Given the description of an element on the screen output the (x, y) to click on. 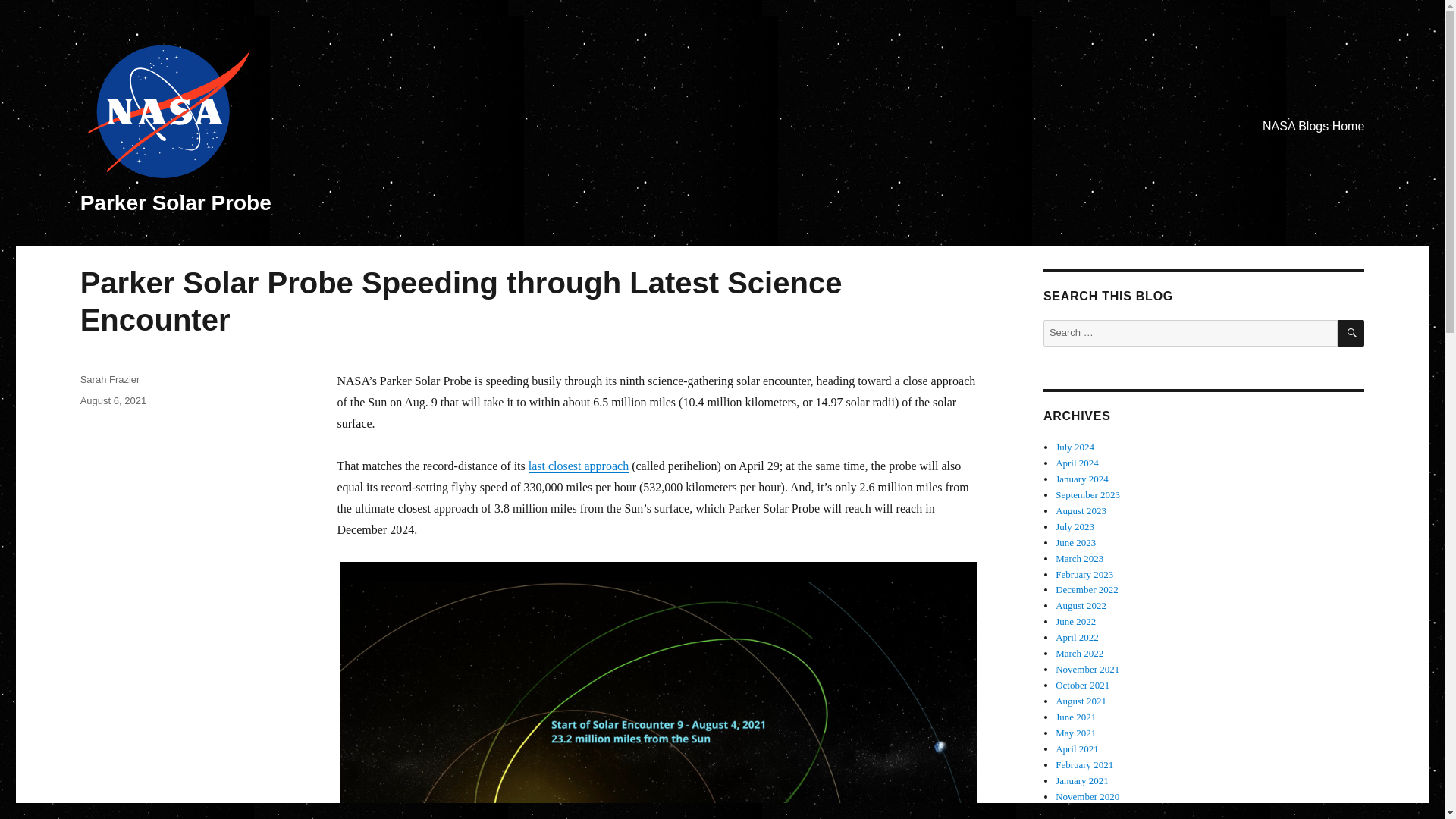
November 2021 (1087, 668)
Parker Solar Probe (175, 202)
May 2021 (1075, 732)
August 6, 2021 (113, 400)
April 2024 (1077, 462)
March 2023 (1079, 558)
September 2020 (1087, 812)
July 2024 (1074, 446)
June 2022 (1075, 621)
July 2023 (1074, 526)
